Given the description of an element on the screen output the (x, y) to click on. 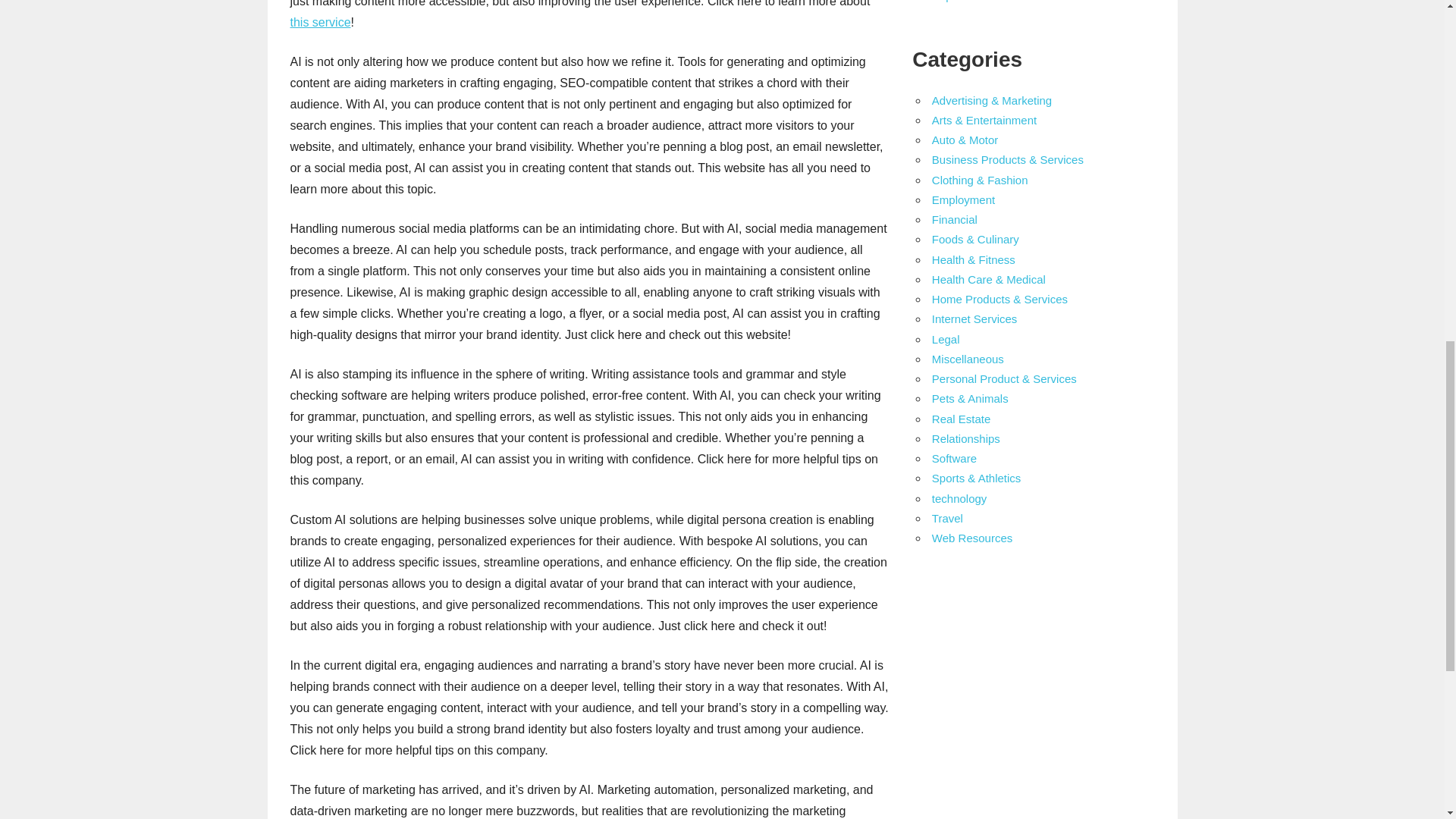
Financial (953, 219)
Employment (962, 199)
this service (319, 21)
September 2022 (973, 1)
